Given the description of an element on the screen output the (x, y) to click on. 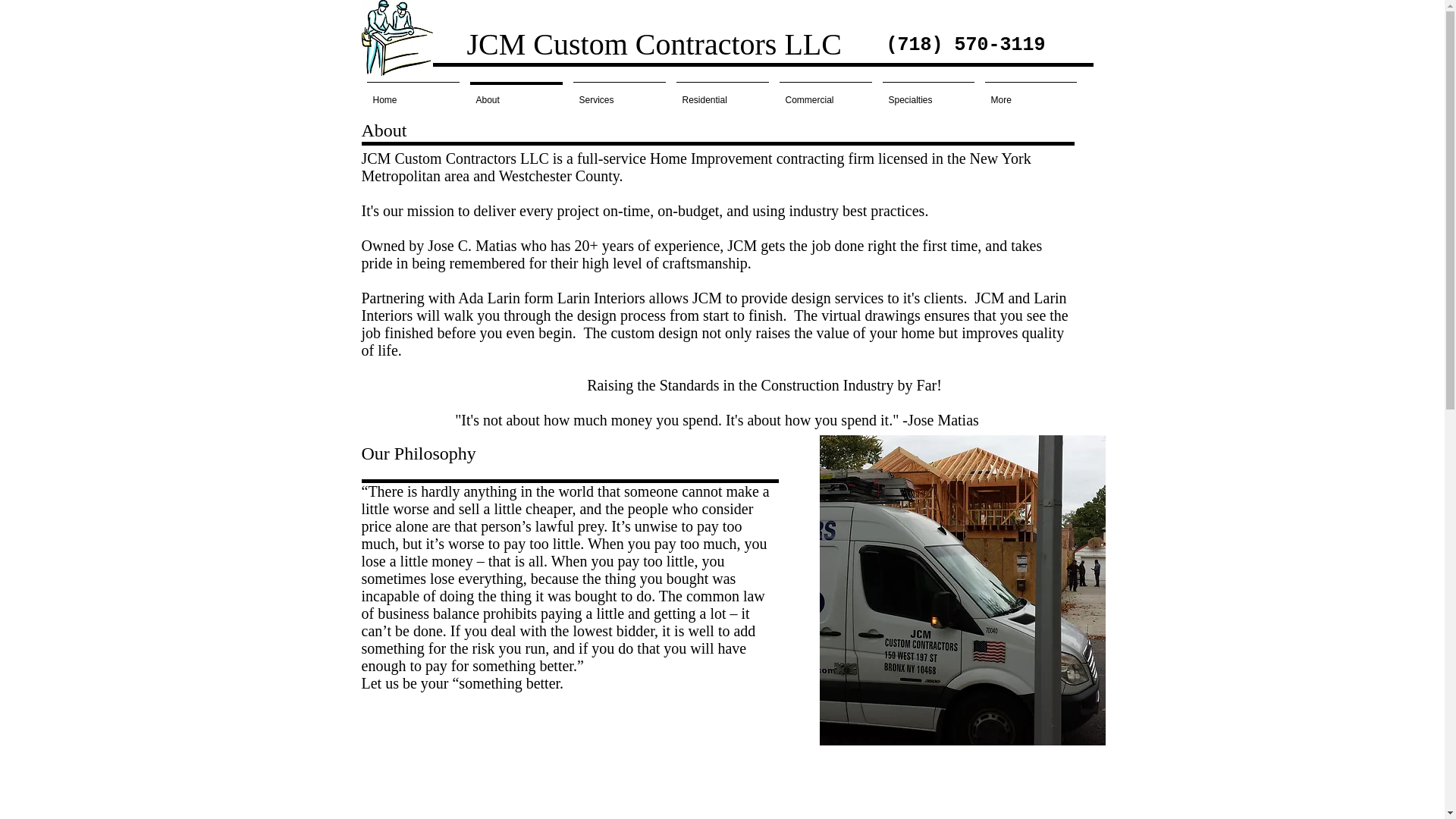
Services (618, 92)
About (515, 92)
External YouTube (721, 796)
            JCM Custom Contractors LLC (608, 44)
Residential (721, 92)
Specialties (927, 92)
Commercial (824, 92)
Home (412, 92)
